Given the description of an element on the screen output the (x, y) to click on. 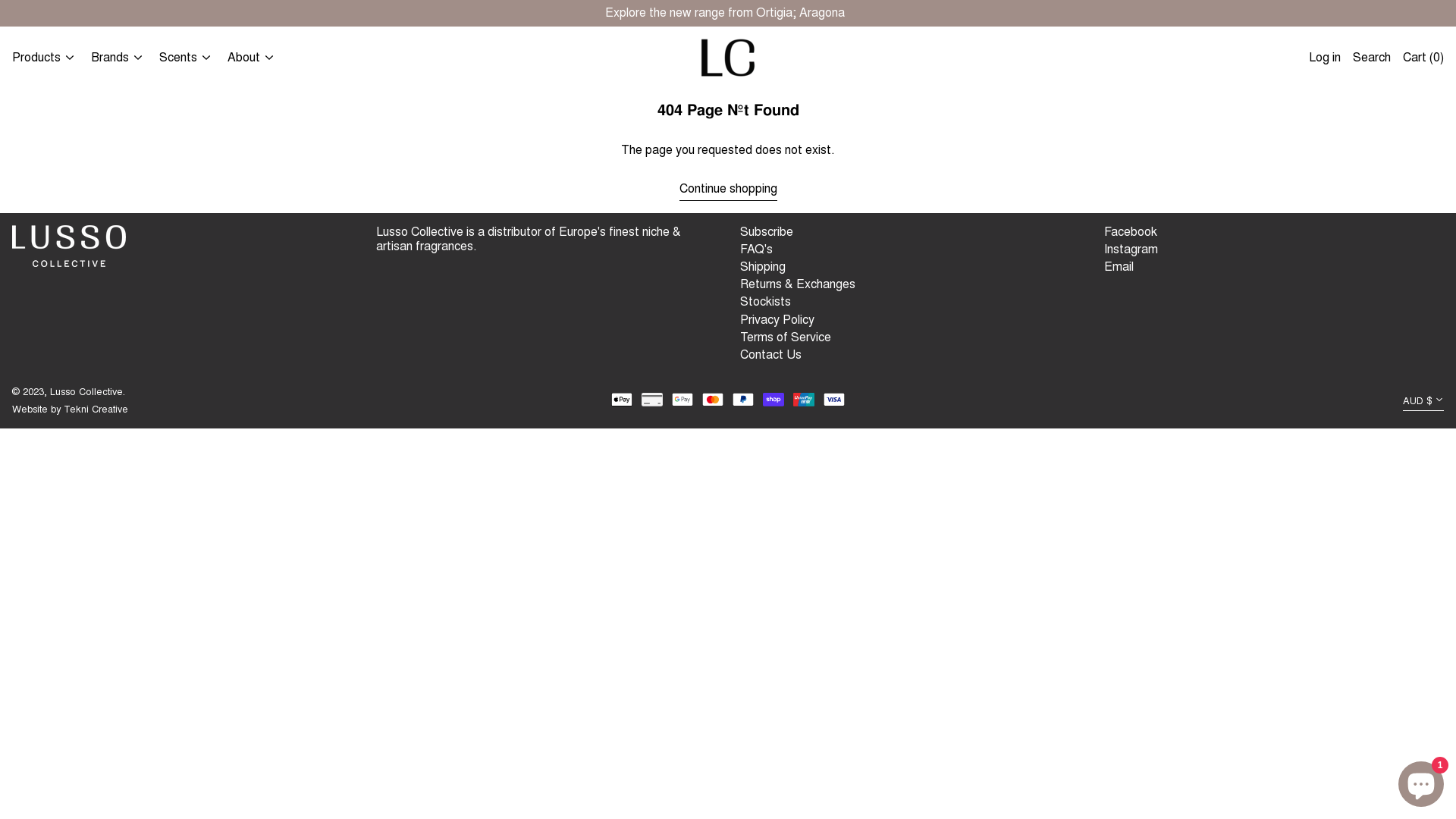
Lusso Collective Element type: text (86, 391)
Terms of Service Element type: text (785, 337)
Tekni Creative Element type: text (95, 409)
Returns & Exchanges Element type: text (797, 283)
Shopify online store chat Element type: hover (1420, 780)
Products Element type: text (45, 57)
Brands Element type: text (119, 57)
AUD $ Element type: text (1422, 401)
Cart (0) Element type: text (1422, 57)
Instagram Element type: text (1130, 249)
Privacy Policy Element type: text (777, 319)
Scents Element type: text (187, 57)
Email Element type: text (1118, 267)
Facebook Element type: text (1130, 232)
Search Element type: text (1371, 57)
Continue shopping Element type: text (728, 191)
Log in Element type: text (1324, 57)
Stockists Element type: text (765, 301)
Shipping Element type: text (762, 266)
Subscribe Element type: text (766, 231)
About Element type: text (252, 57)
FAQ's Element type: text (756, 249)
Contact Us Element type: text (770, 354)
